Given the description of an element on the screen output the (x, y) to click on. 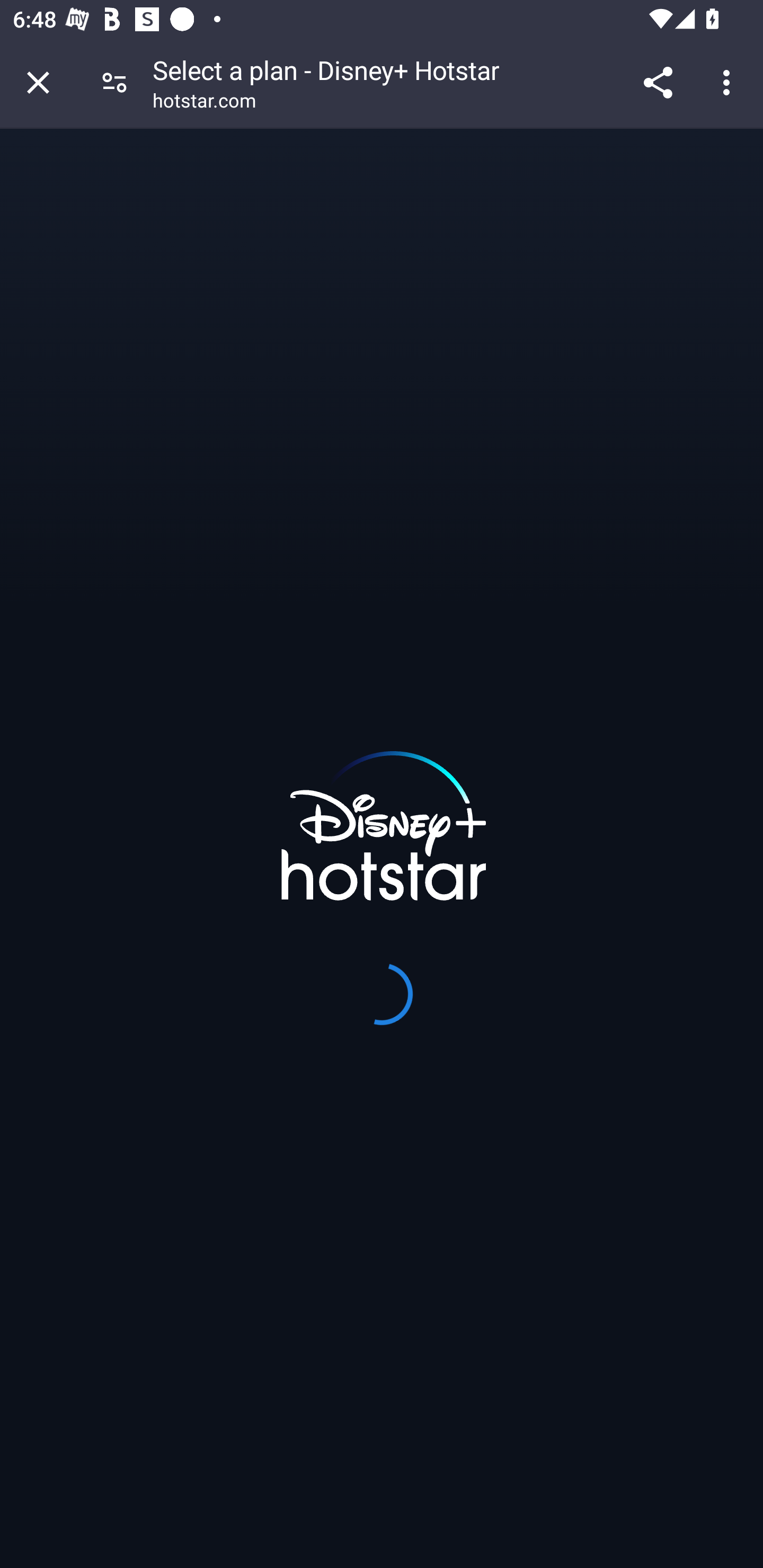
Close tab (38, 82)
Share (657, 82)
Customize and control Google Chrome (729, 82)
Connection is secure (114, 81)
hotstar.com (204, 103)
